Given the description of an element on the screen output the (x, y) to click on. 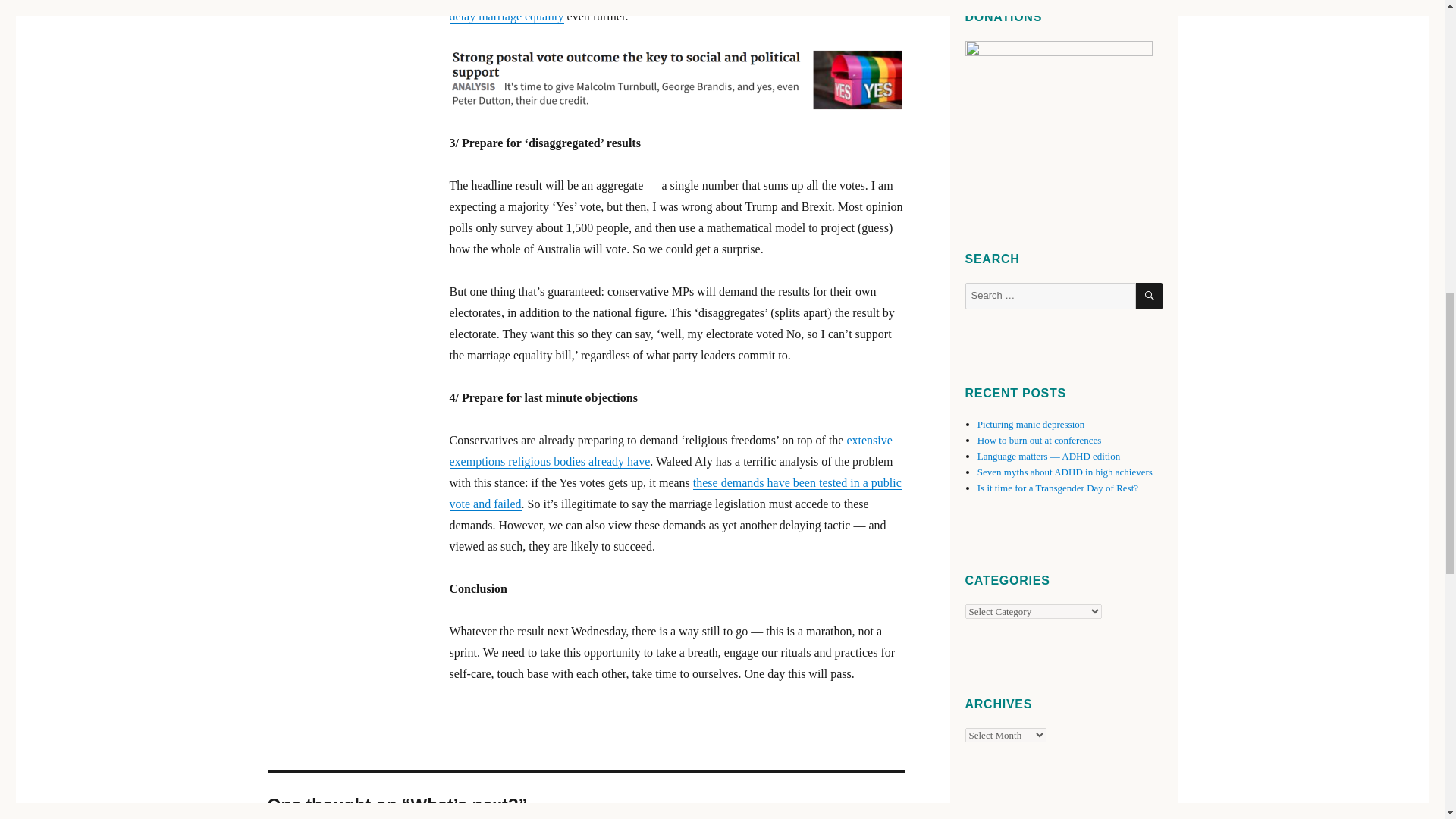
TIP JAR (1057, 107)
these demands have been tested in a public vote and failed (674, 492)
Is it time for a Transgender Day of Rest? (1057, 487)
SEARCH (1148, 295)
extensive exemptions religious bodies already have (669, 450)
Picturing manic depression (1030, 423)
Seven myths about ADHD in high achievers (1064, 471)
How to burn out at conferences (1039, 439)
